Given the description of an element on the screen output the (x, y) to click on. 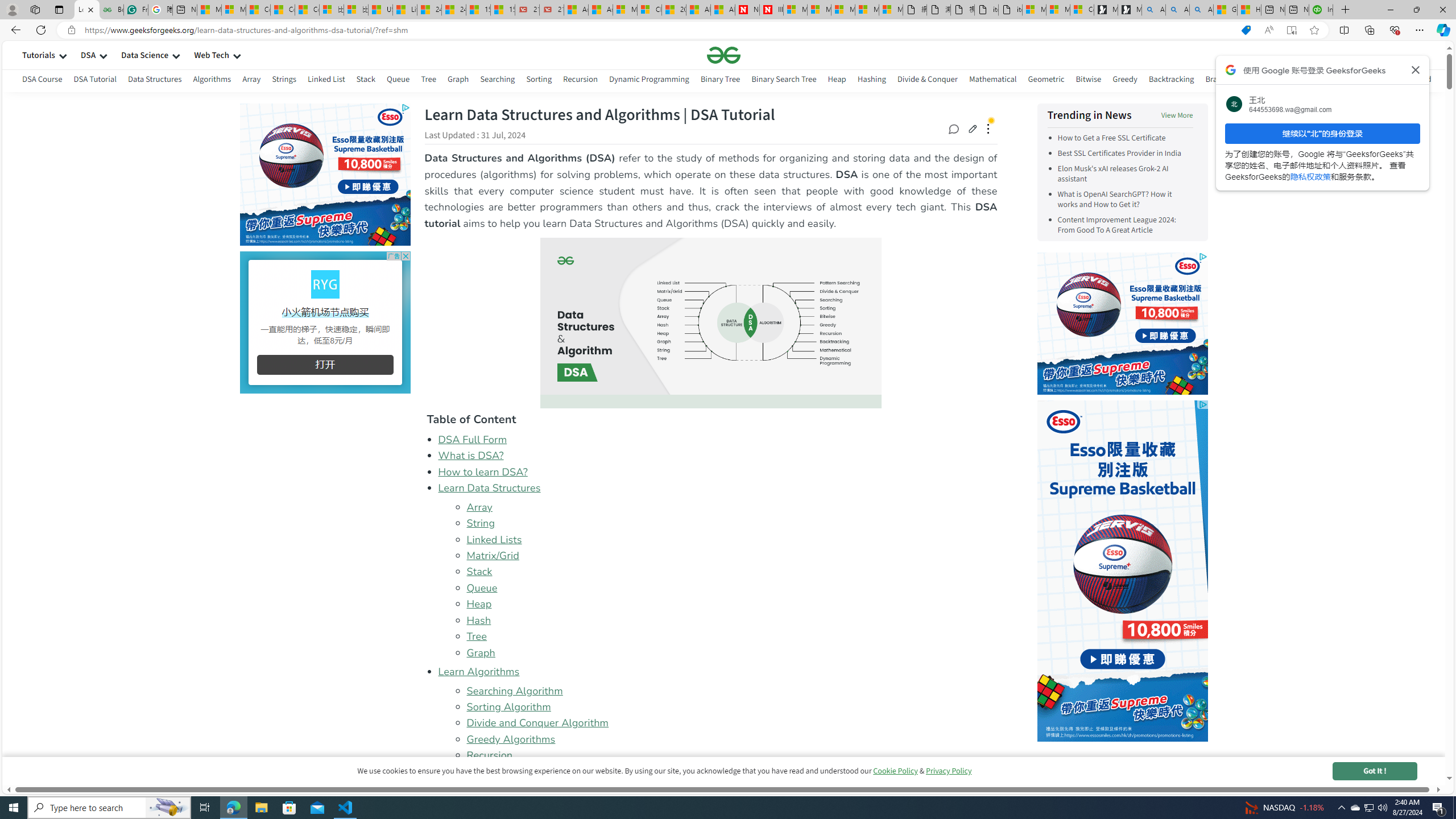
Stack (731, 571)
Divide and Conquer Algorithm (731, 722)
Bitwise (1089, 80)
Matrix/Grid (492, 555)
Linked List (325, 79)
Dynamic Programming (519, 787)
Backtracking Algorithm (731, 771)
Heap (731, 604)
Algorithms (212, 80)
